Given the description of an element on the screen output the (x, y) to click on. 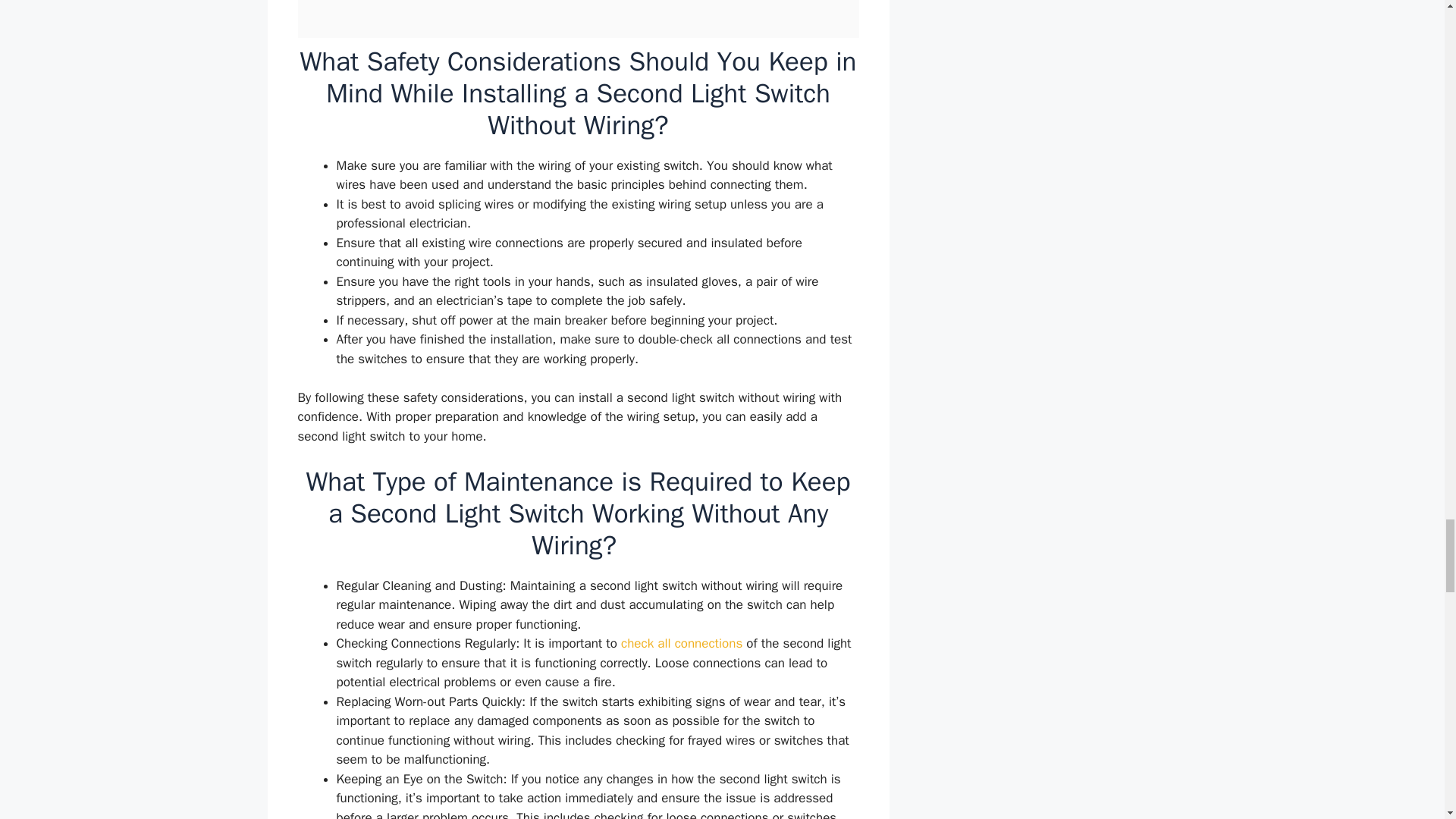
check all connections (681, 643)
